Given the description of an element on the screen output the (x, y) to click on. 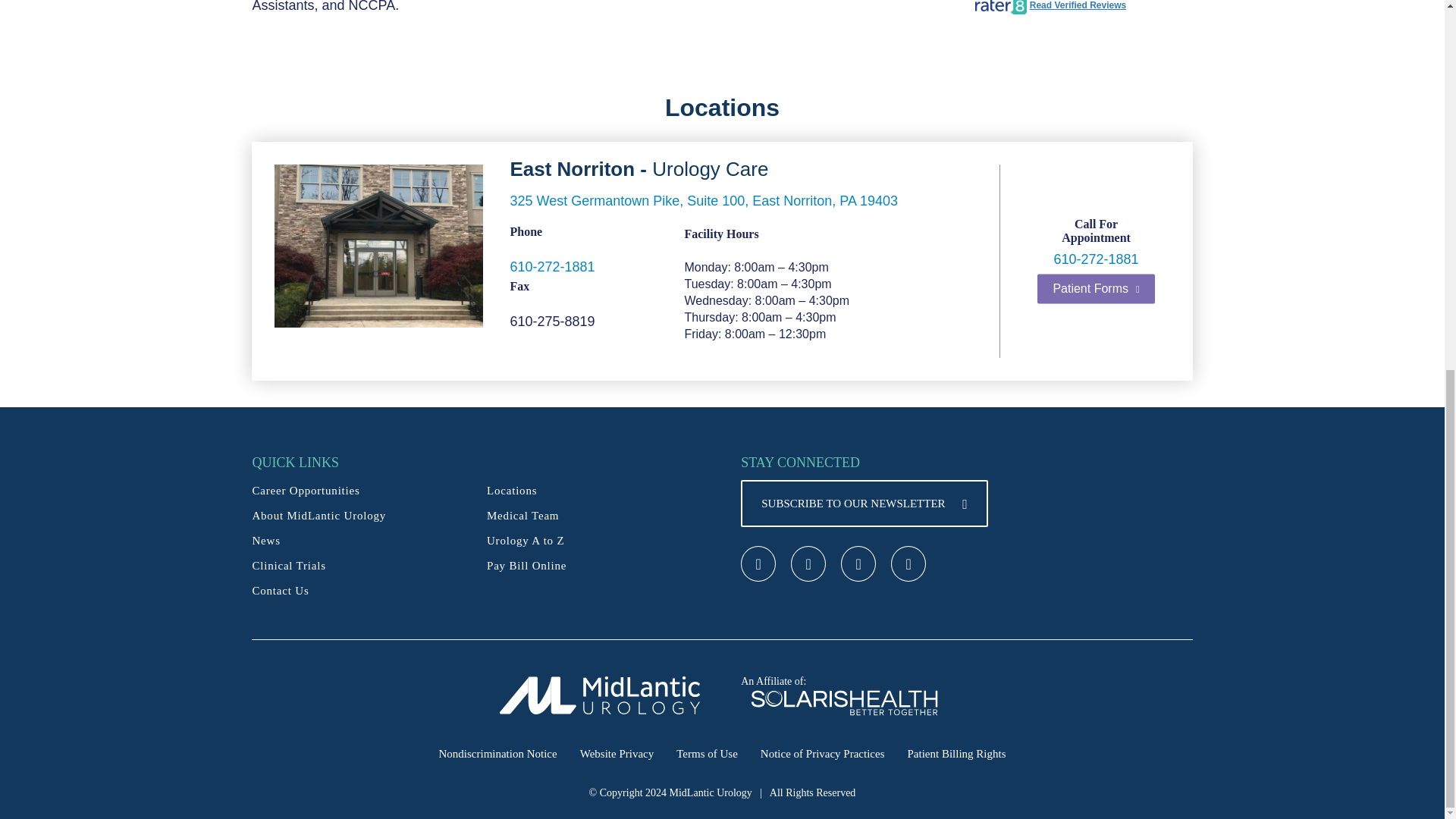
LinkedIn (858, 563)
YouTube (908, 563)
Facebook (758, 563)
X (807, 563)
